Given the description of an element on the screen output the (x, y) to click on. 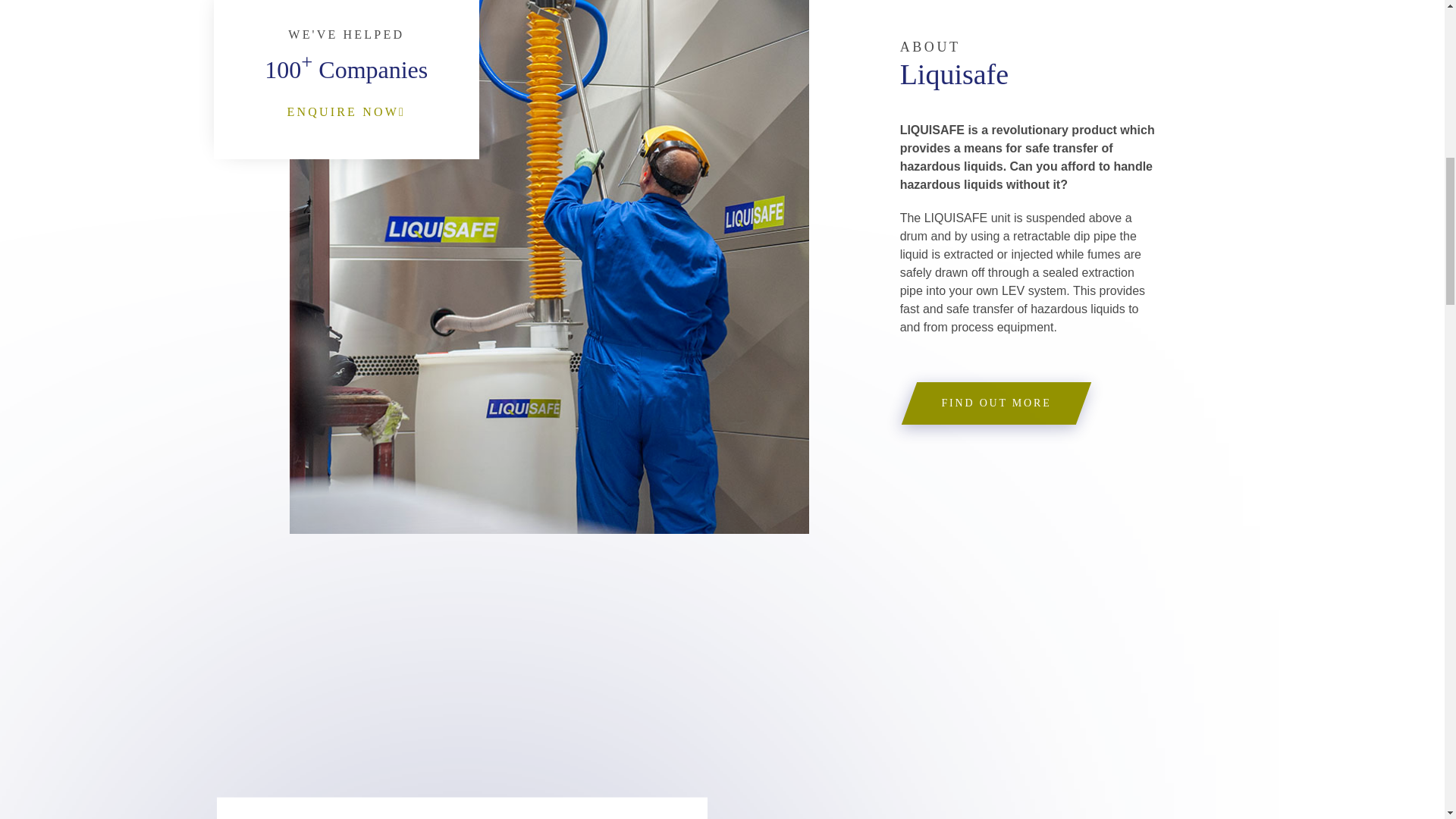
ENQUIRE NOW (346, 112)
FIND OUT MORE (995, 403)
